Given the description of an element on the screen output the (x, y) to click on. 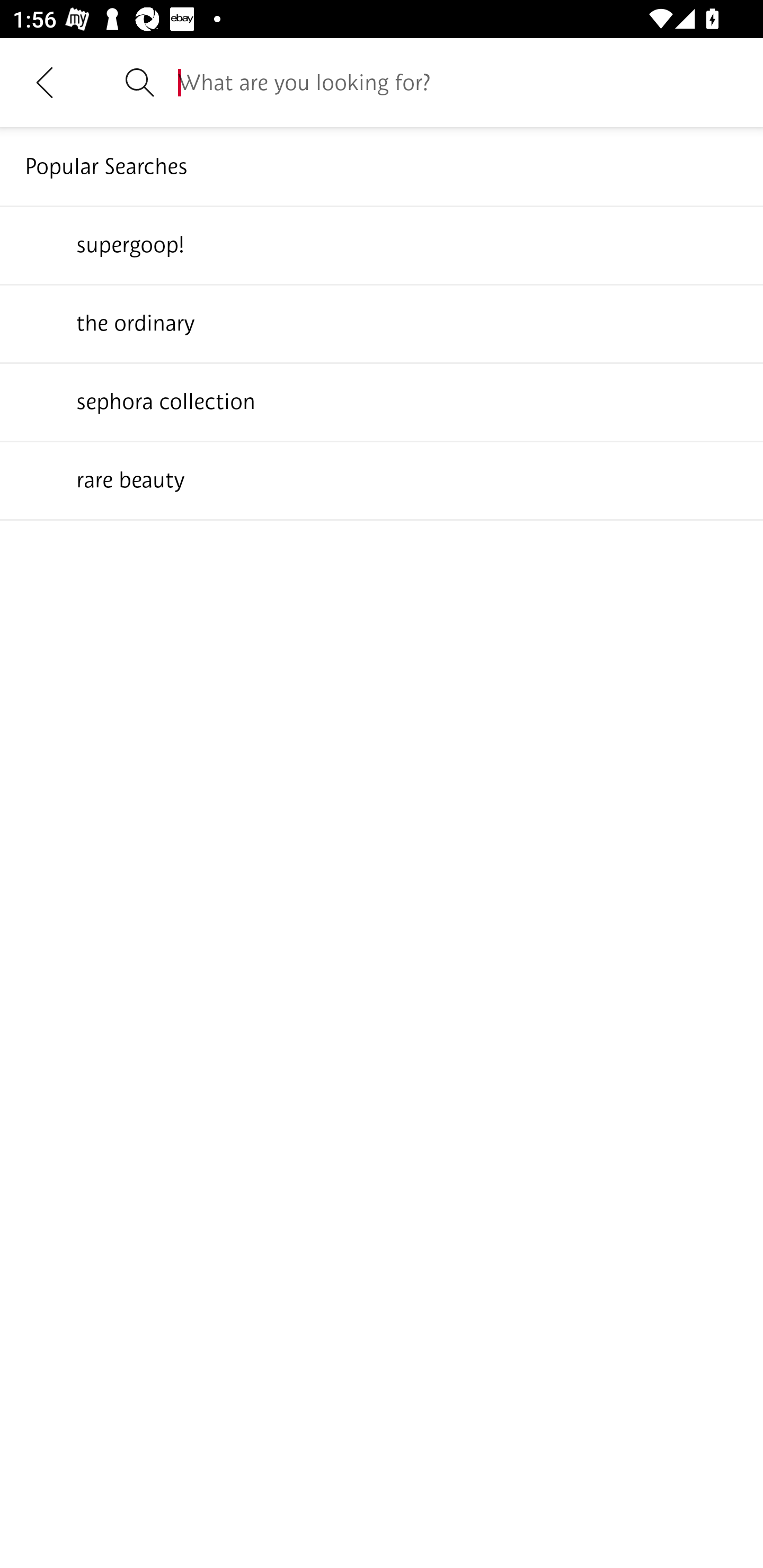
Navigate up (44, 82)
What are you looking for? (457, 82)
supergoop! (381, 244)
the ordinary (381, 322)
sephora collection (381, 401)
rare beauty (381, 479)
